Given the description of an element on the screen output the (x, y) to click on. 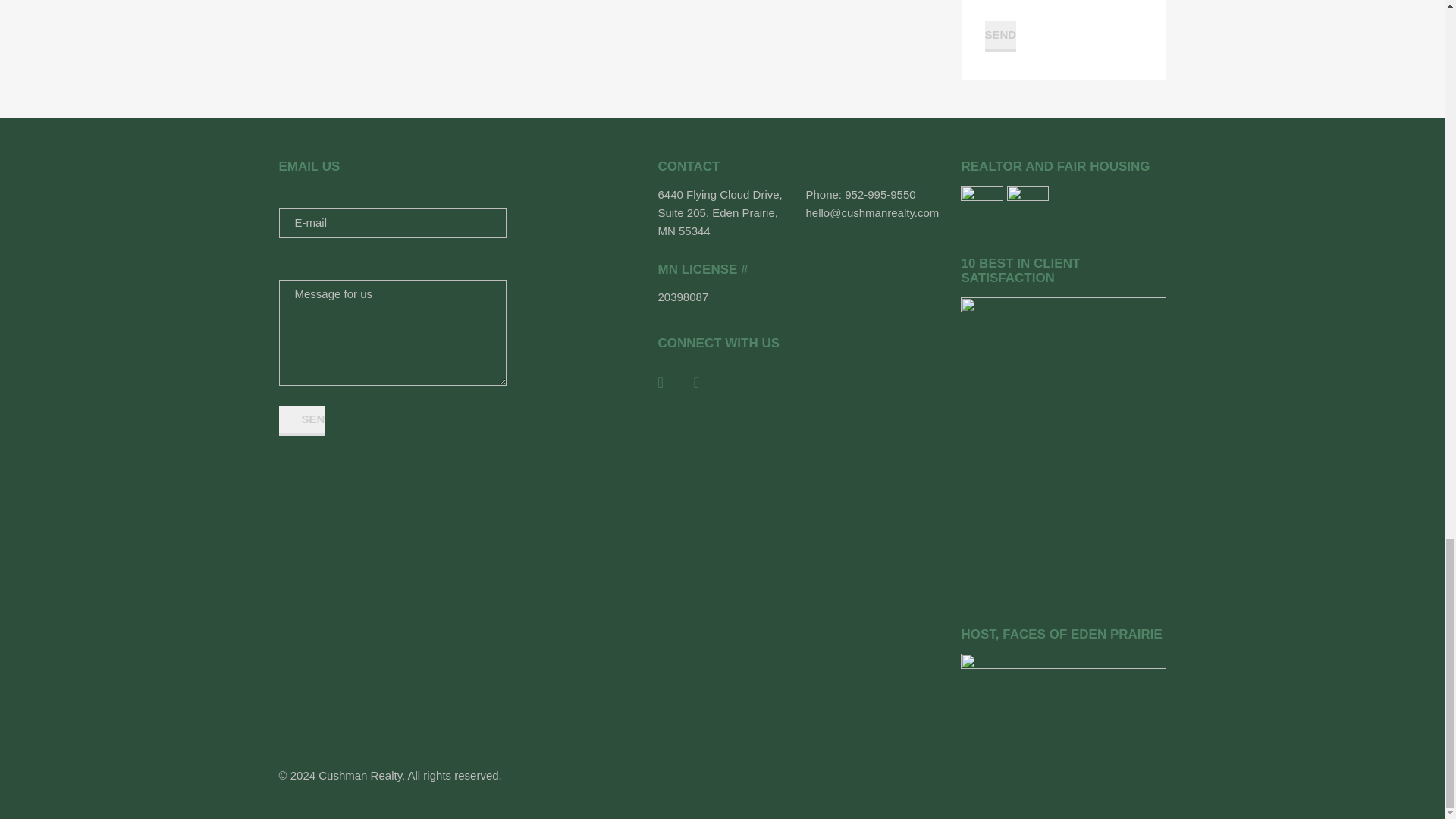
Send (301, 420)
Send (1000, 36)
